Given the description of an element on the screen output the (x, y) to click on. 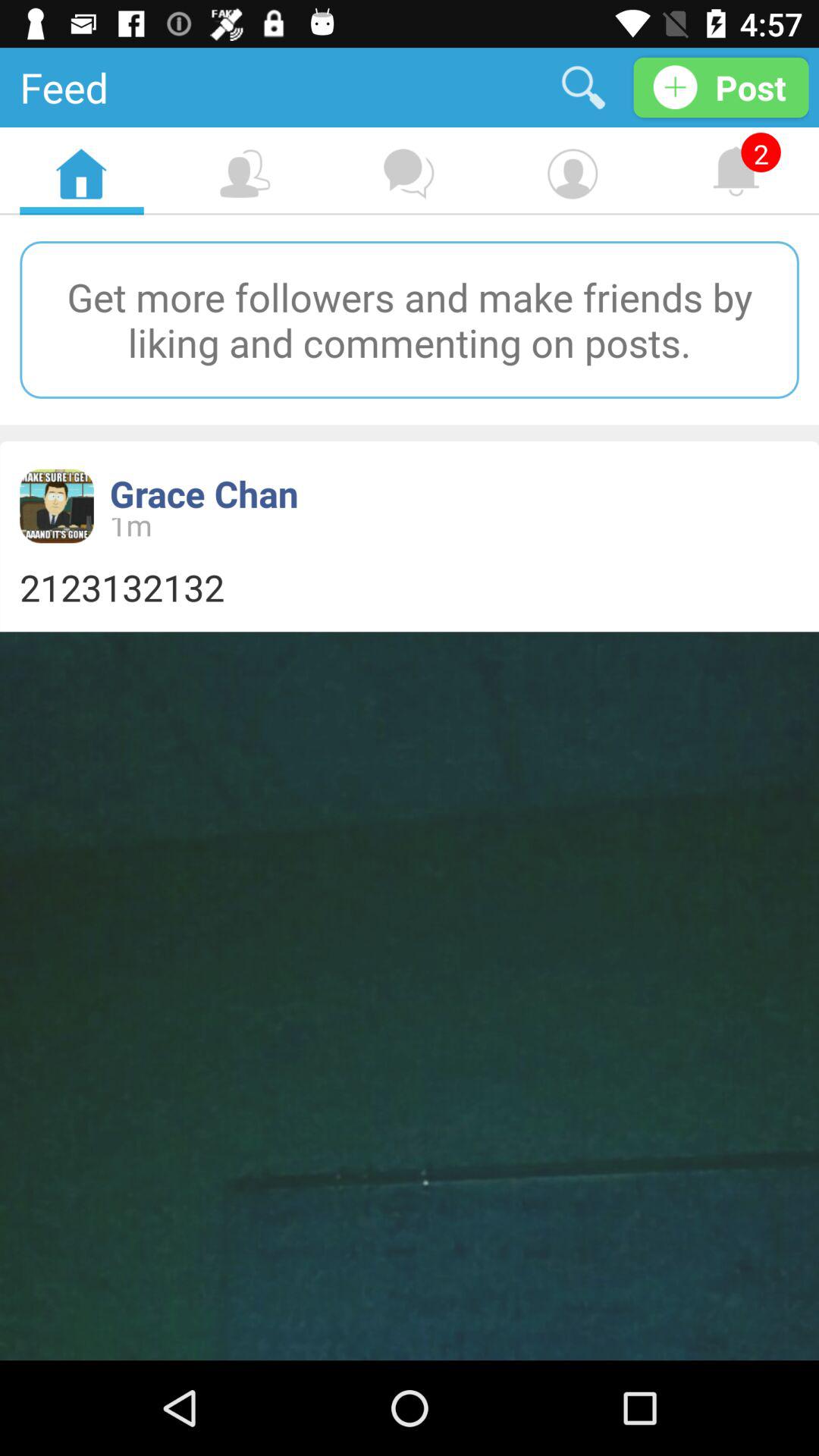
launch item below get more followers item (203, 493)
